Given the description of an element on the screen output the (x, y) to click on. 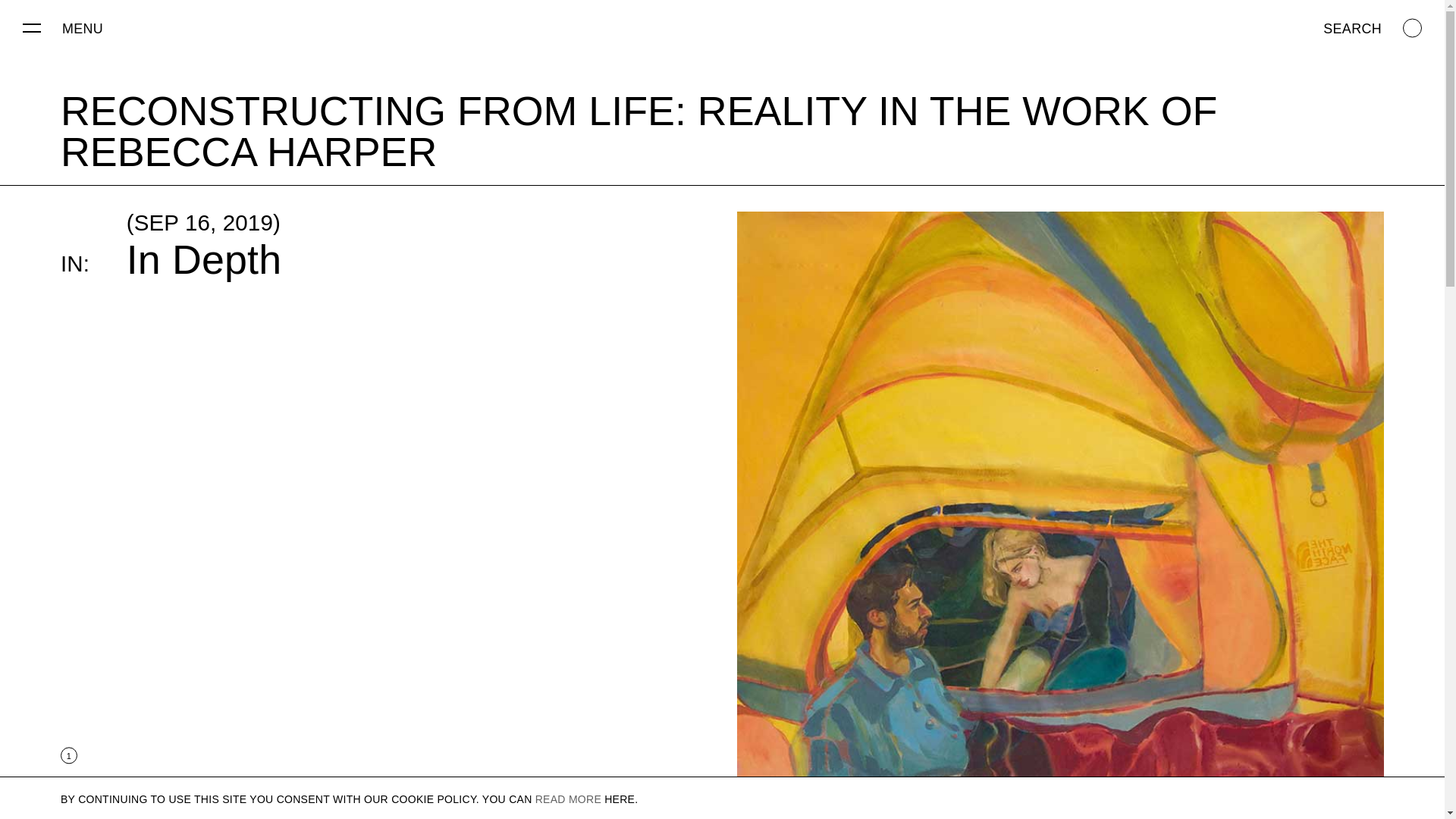
submit (613, 807)
